Given the description of an element on the screen output the (x, y) to click on. 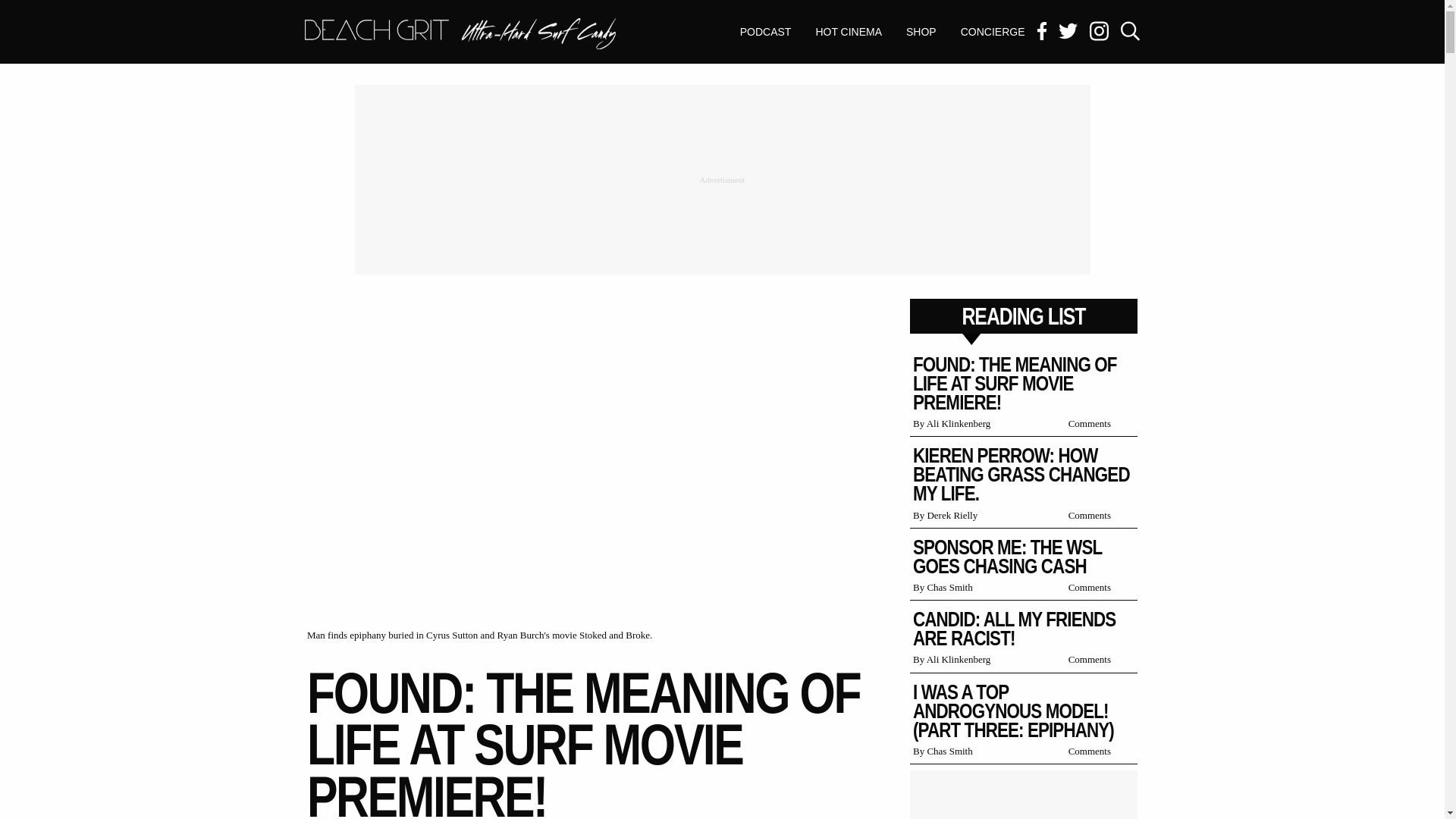
CANDID: ALL MY FRIENDS ARE RACIST! (459, 34)
SHOP (1039, 628)
FOUND: THE MEANING OF LIFE AT SURF MOVIE PREMIERE! (921, 31)
KIEREN PERROW: HOW BEATING GRASS CHANGED MY LIFE. (1039, 383)
SPONSOR ME: THE WSL GOES CHASING CASH (1047, 474)
CONCIERGE (1030, 556)
PODCAST (992, 31)
BG-LOGO (765, 31)
HOT CINEMA (459, 33)
